Given the description of an element on the screen output the (x, y) to click on. 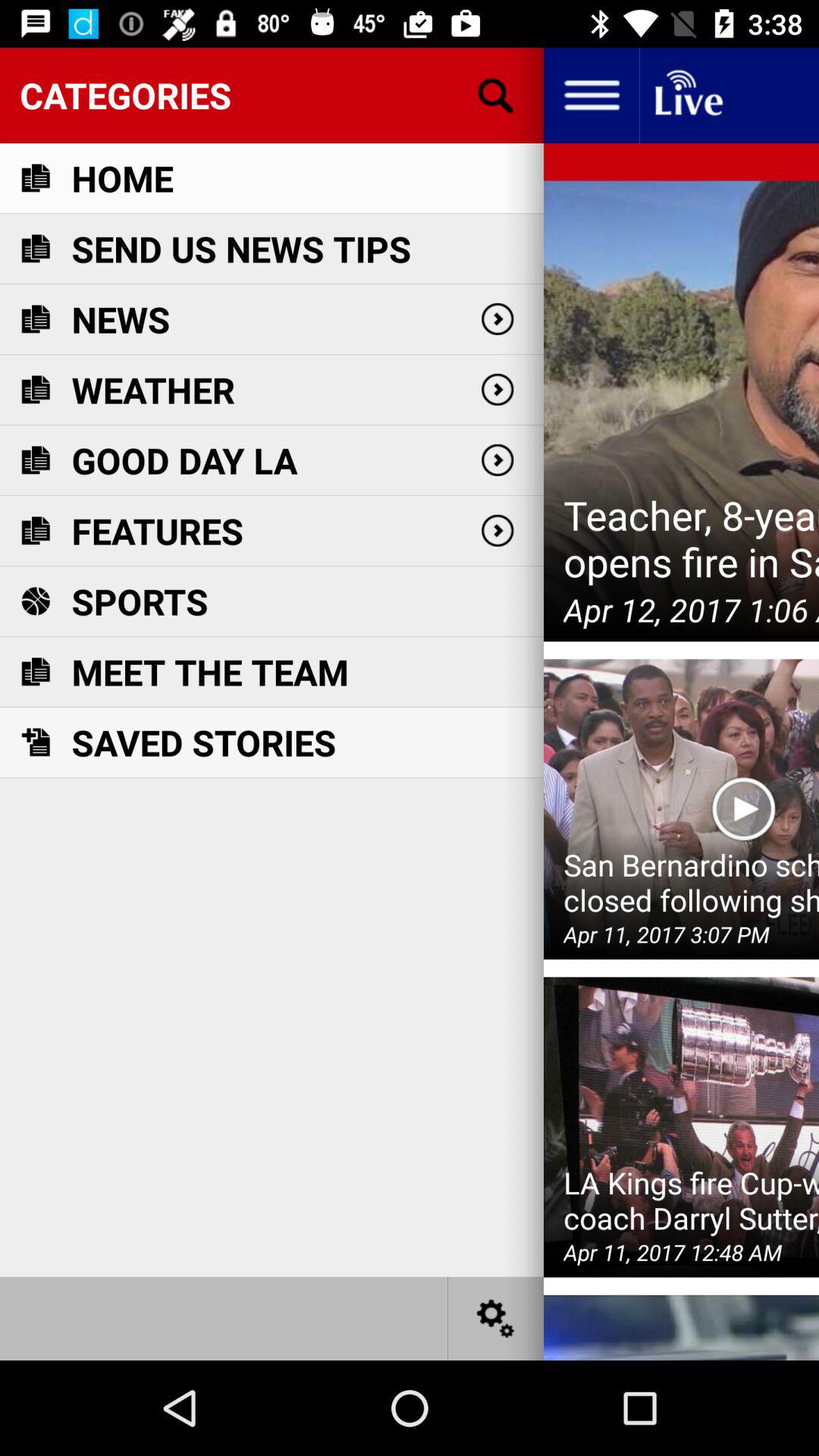
main menu (591, 95)
